Given the description of an element on the screen output the (x, y) to click on. 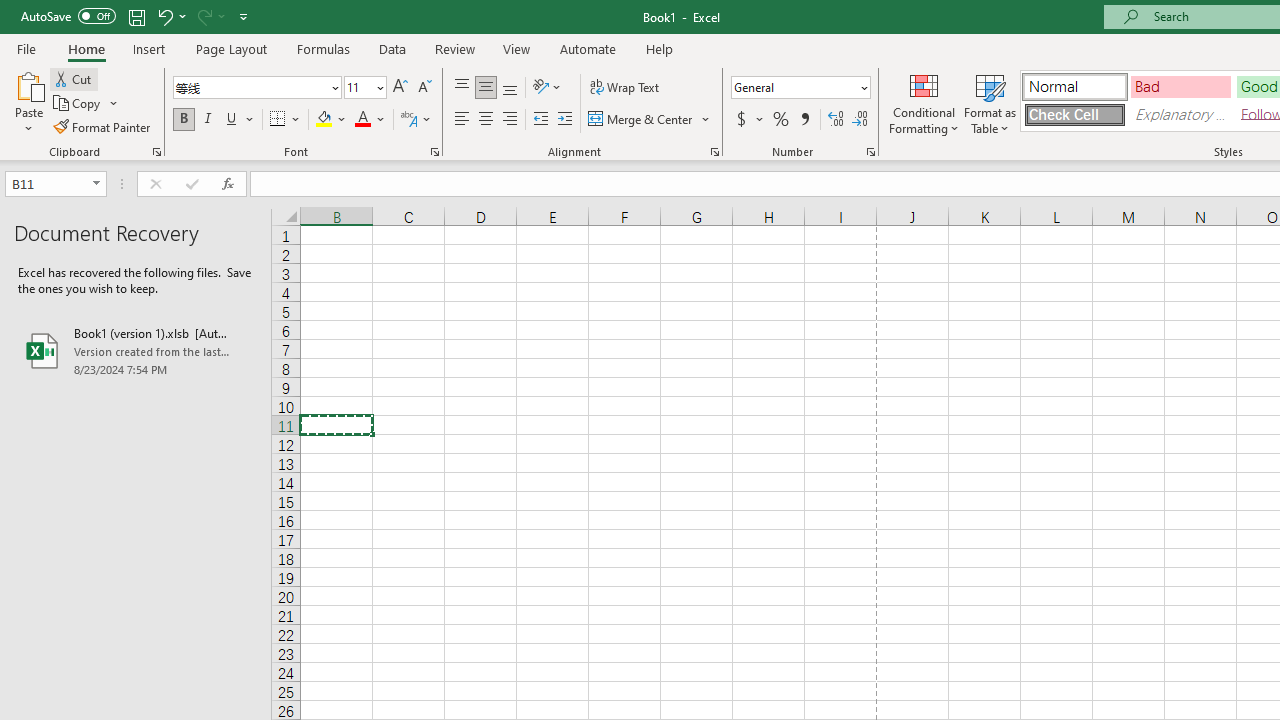
Increase Indent (565, 119)
Borders (285, 119)
Copy (85, 103)
Merge & Center (641, 119)
Center (485, 119)
Paste (28, 102)
Align Left (461, 119)
Font Color RGB(255, 0, 0) (362, 119)
Decrease Font Size (424, 87)
Number Format (800, 87)
Orientation (547, 87)
